Given the description of an element on the screen output the (x, y) to click on. 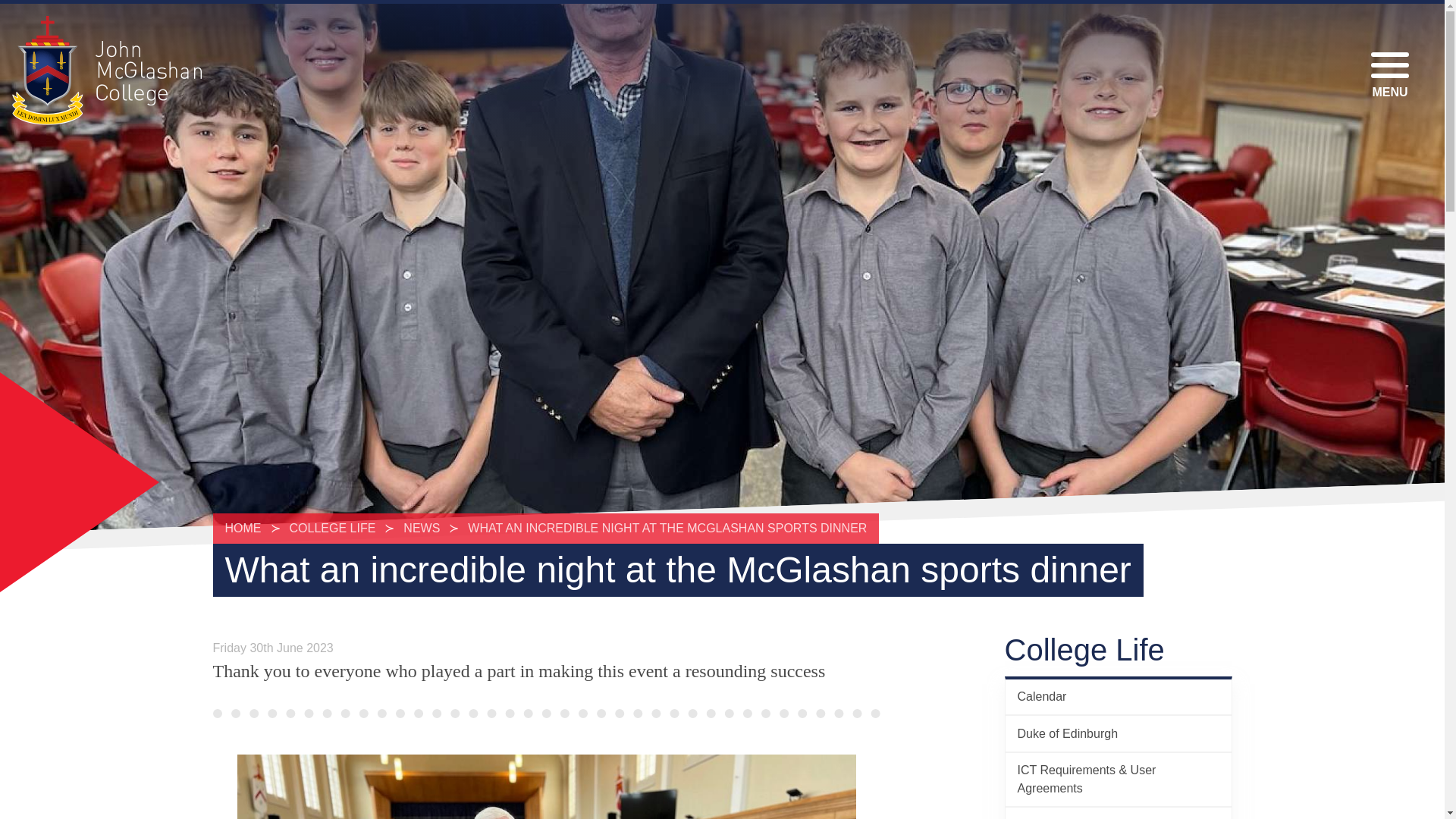
COLLEGE LIFE (333, 528)
NEWS (421, 528)
News (1118, 813)
Duke of Edinburgh (1118, 733)
WHAT AN INCREDIBLE NIGHT AT THE MCGLASHAN SPORTS DINNER (667, 528)
Calendar (1118, 696)
HOME (246, 528)
